Given the description of an element on the screen output the (x, y) to click on. 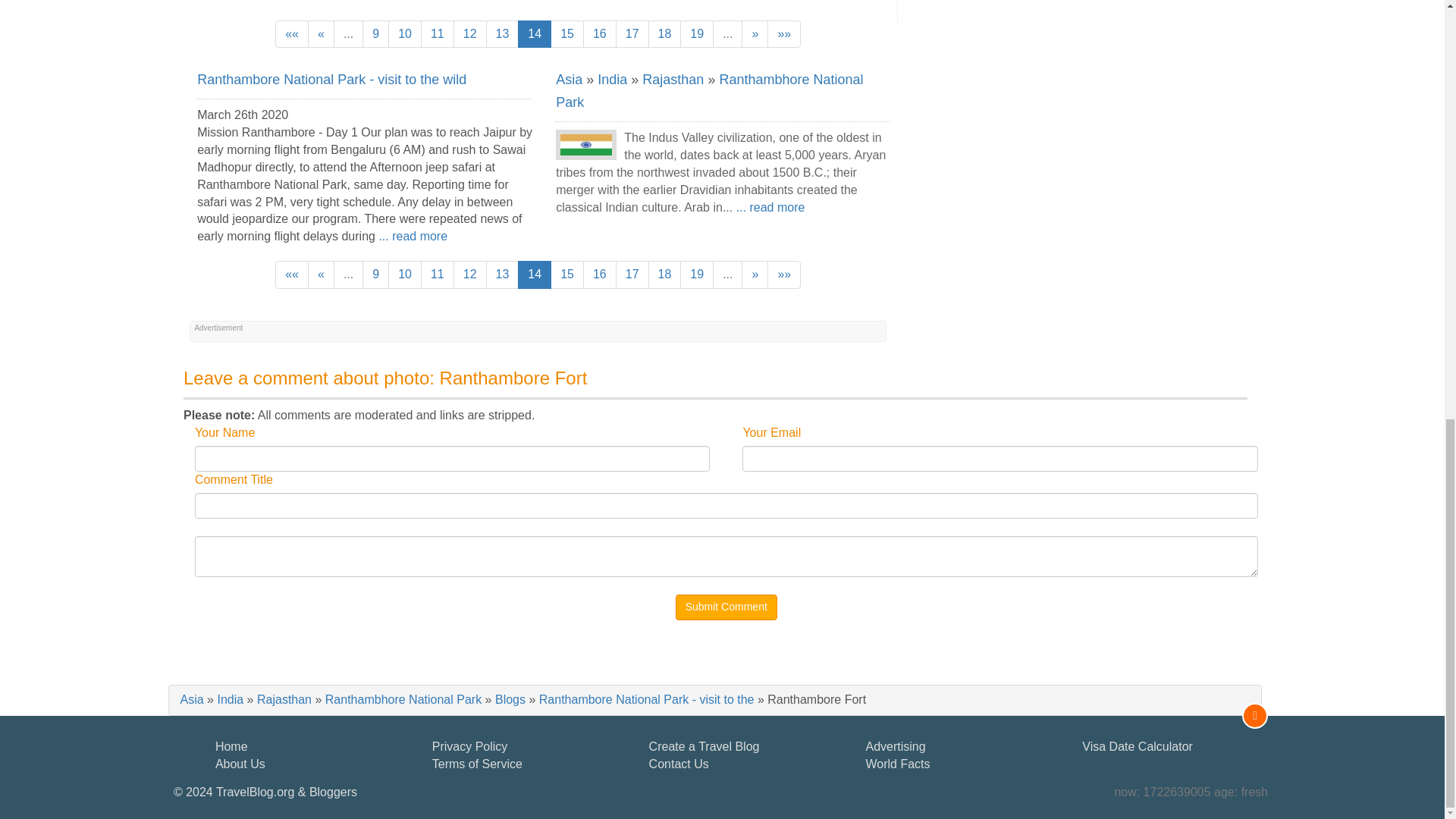
Previous (320, 34)
next (754, 34)
First (291, 34)
